Given the description of an element on the screen output the (x, y) to click on. 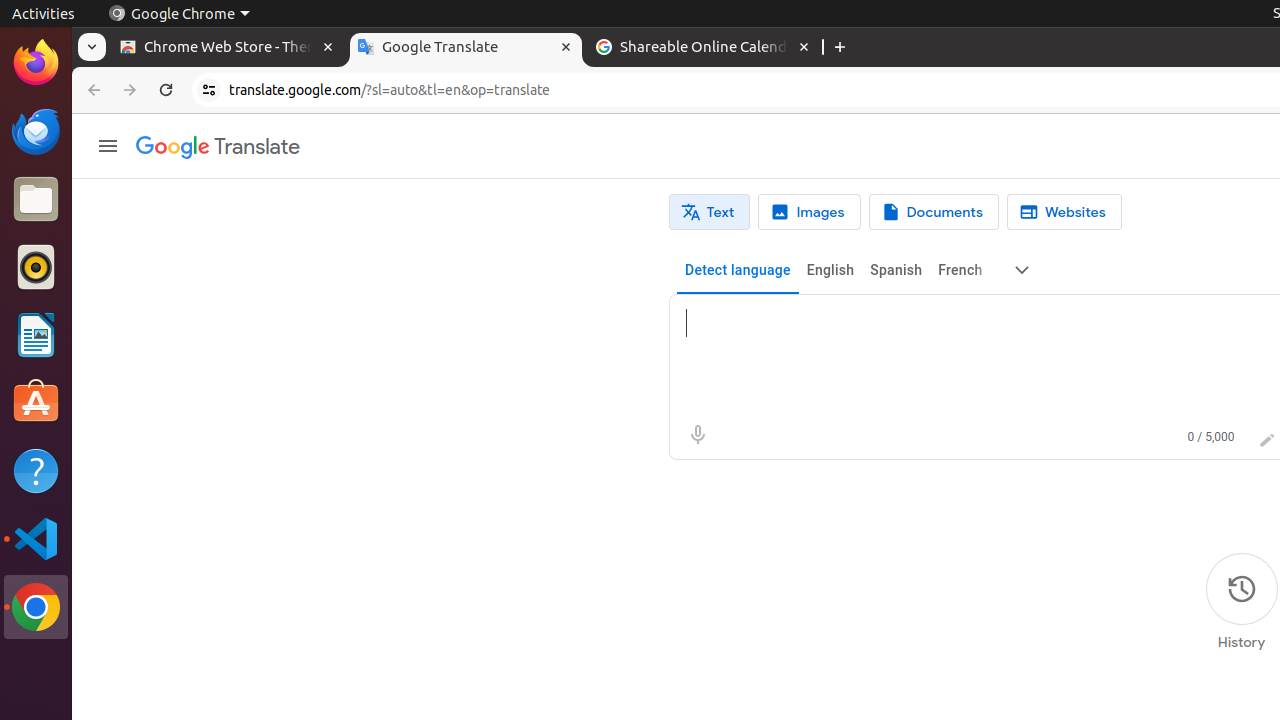
Visual Studio Code Element type: push-button (36, 538)
History Element type: link (1241, 602)
Shareable Online Calendar and Scheduling - Google Calendar - Memory usage - 107 MB Element type: page-tab (704, 47)
Forward Element type: push-button (130, 90)
Rhythmbox Element type: push-button (36, 267)
